Given the description of an element on the screen output the (x, y) to click on. 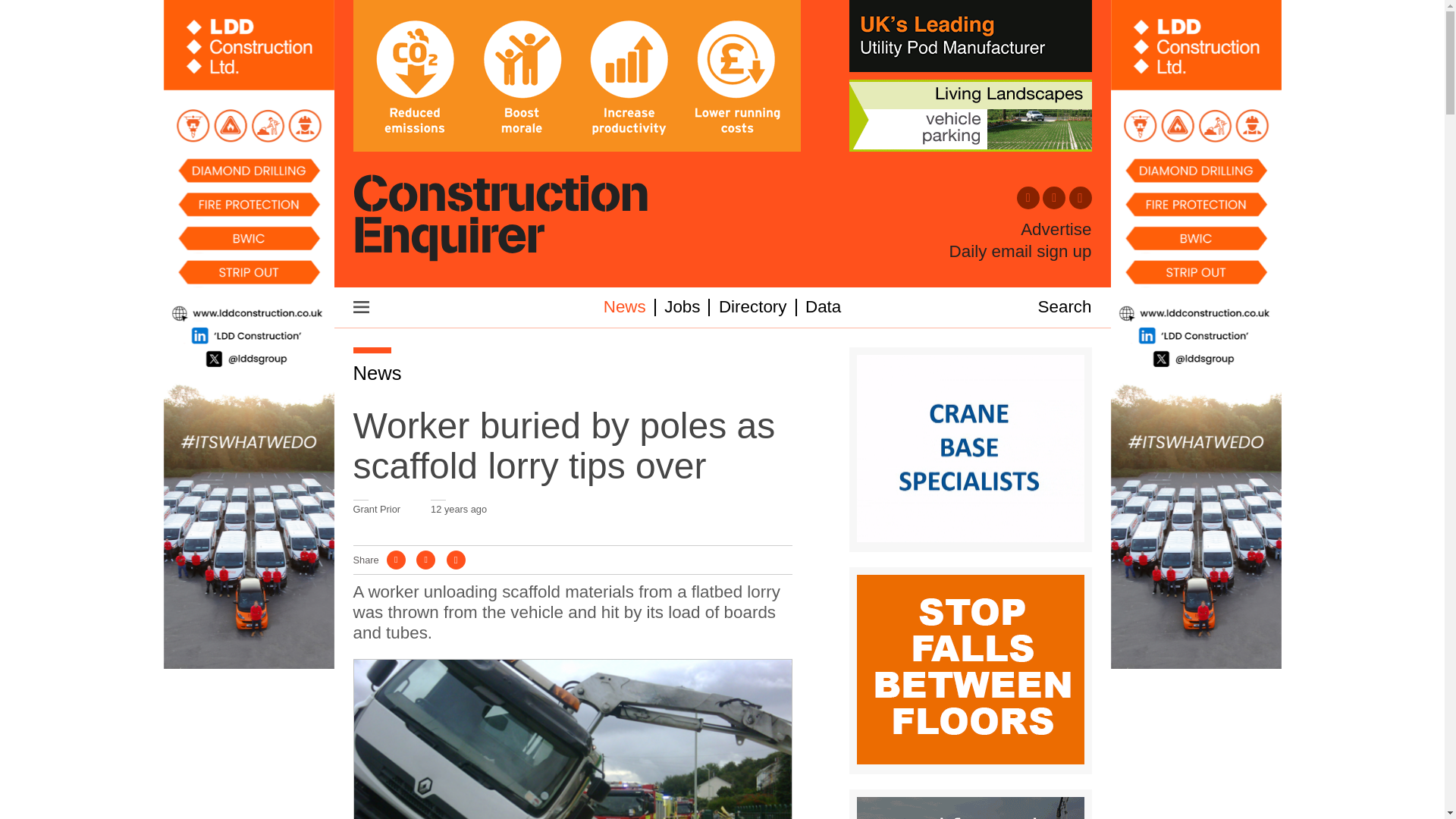
Advertise (1055, 229)
Daily email sign up (1020, 251)
Construction Enquirer (500, 219)
Directory (753, 306)
News (625, 306)
News (377, 373)
Jobs (681, 306)
Search (1065, 306)
Menu (361, 306)
Data (823, 306)
